Given the description of an element on the screen output the (x, y) to click on. 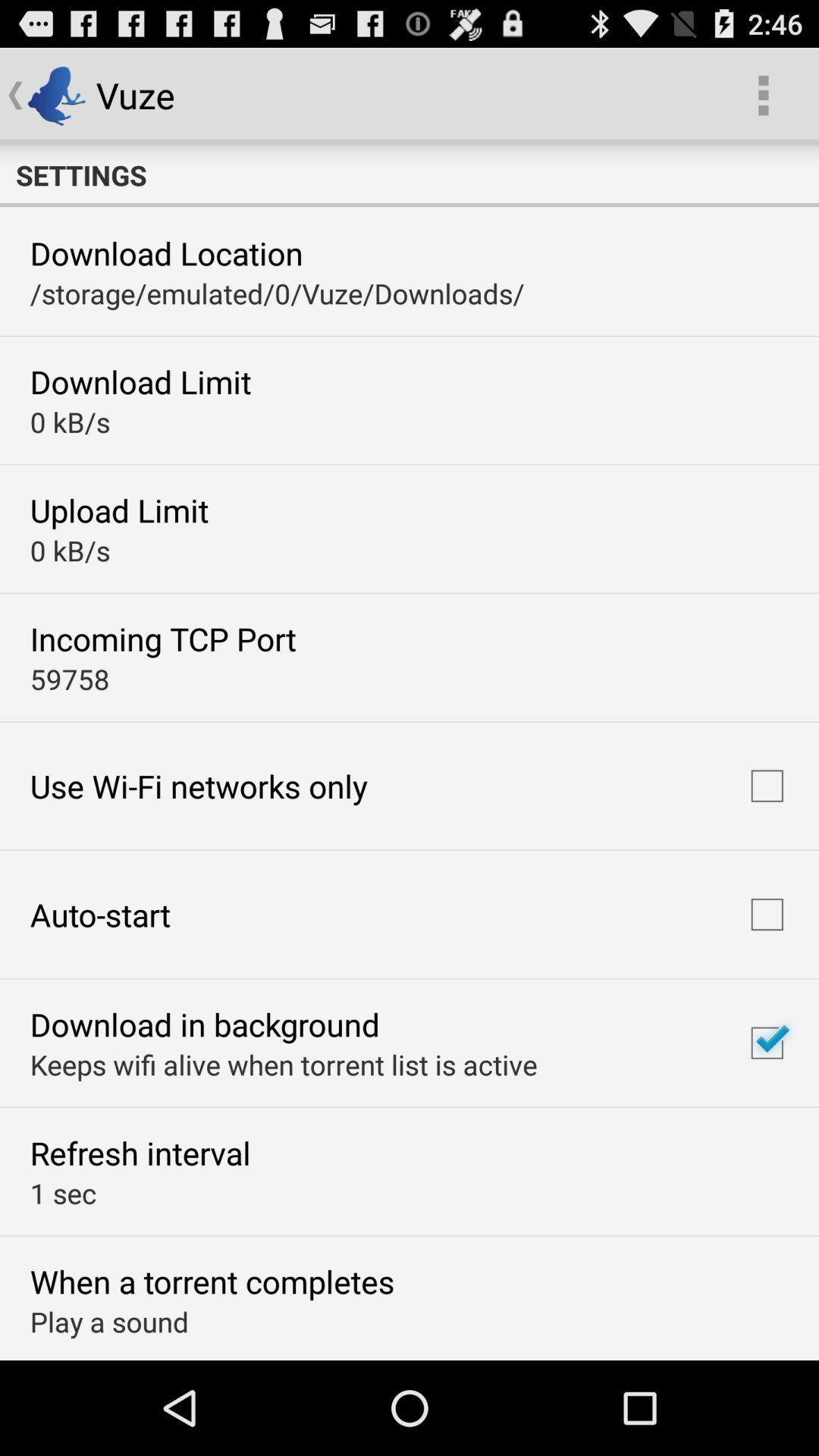
turn on the item below refresh interval icon (63, 1193)
